Given the description of an element on the screen output the (x, y) to click on. 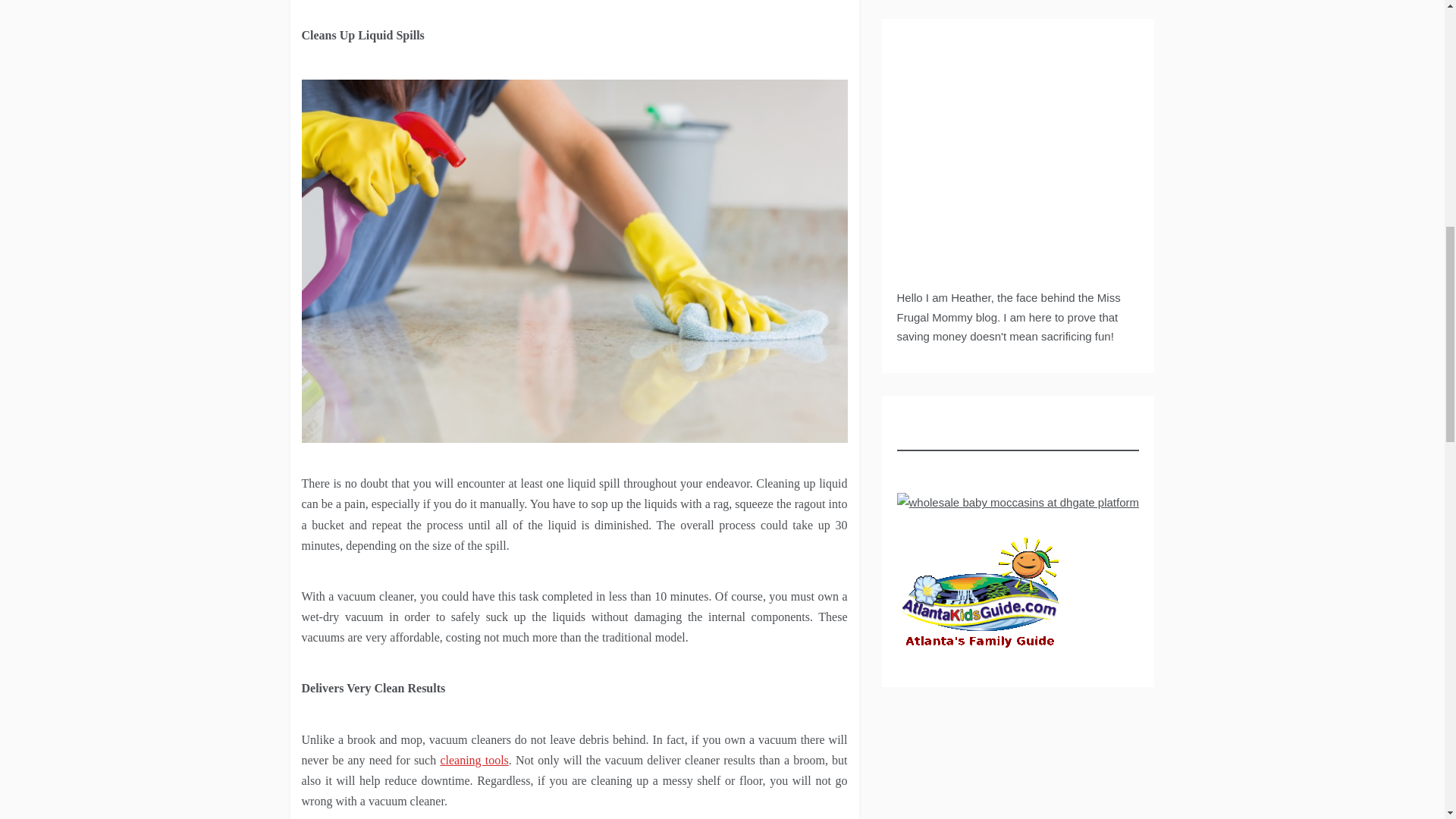
cleaning tools (473, 759)
Atlanta Kids Guide (980, 595)
